Given the description of an element on the screen output the (x, y) to click on. 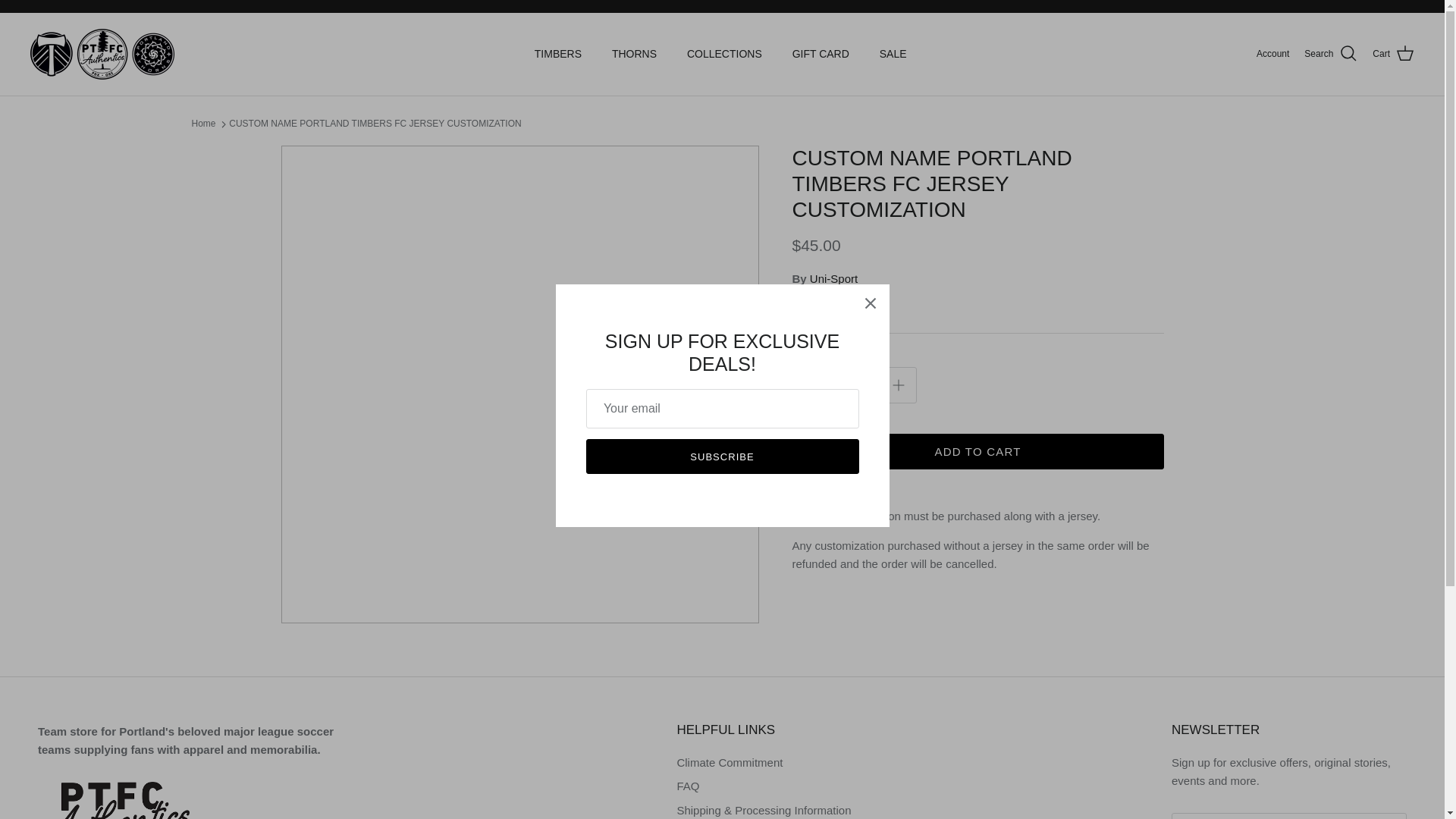
SALE (893, 53)
Cart (1393, 53)
THORNS (633, 53)
COLLECTIONS (724, 53)
Minus (809, 384)
PTFC Authentics (102, 53)
Plus (897, 384)
GIFT CARD (820, 53)
Search (1330, 53)
Account (1272, 53)
